Given the description of an element on the screen output the (x, y) to click on. 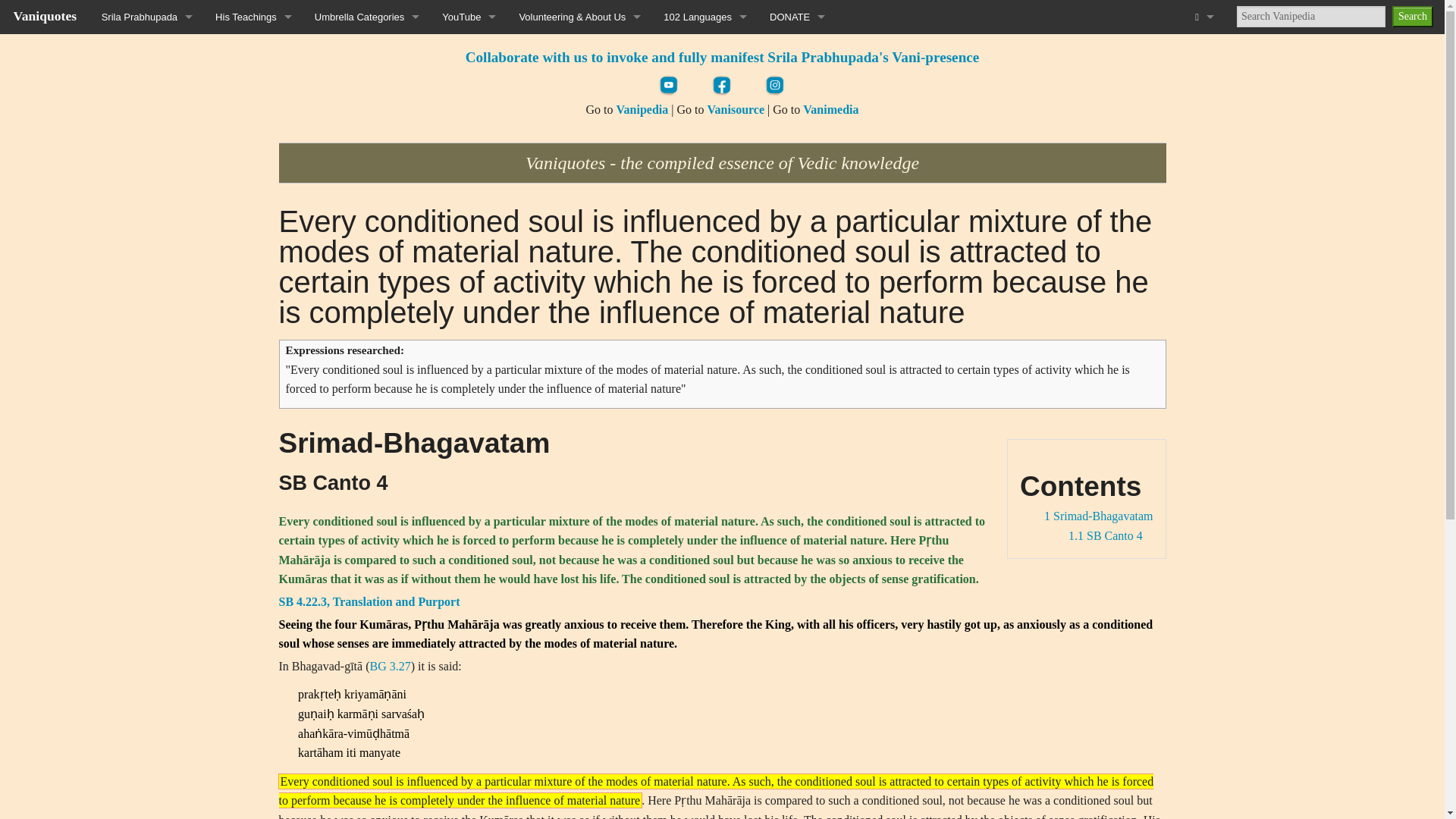
vanimedia:Main Page (831, 109)
Vaniquotes (44, 15)
vanisource:SB 4.22.3 (369, 601)
Search (1411, 16)
Srila Prabhupada (146, 17)
vanisource:Main Page (735, 109)
vanipedia:Main Page (641, 109)
